Given the description of an element on the screen output the (x, y) to click on. 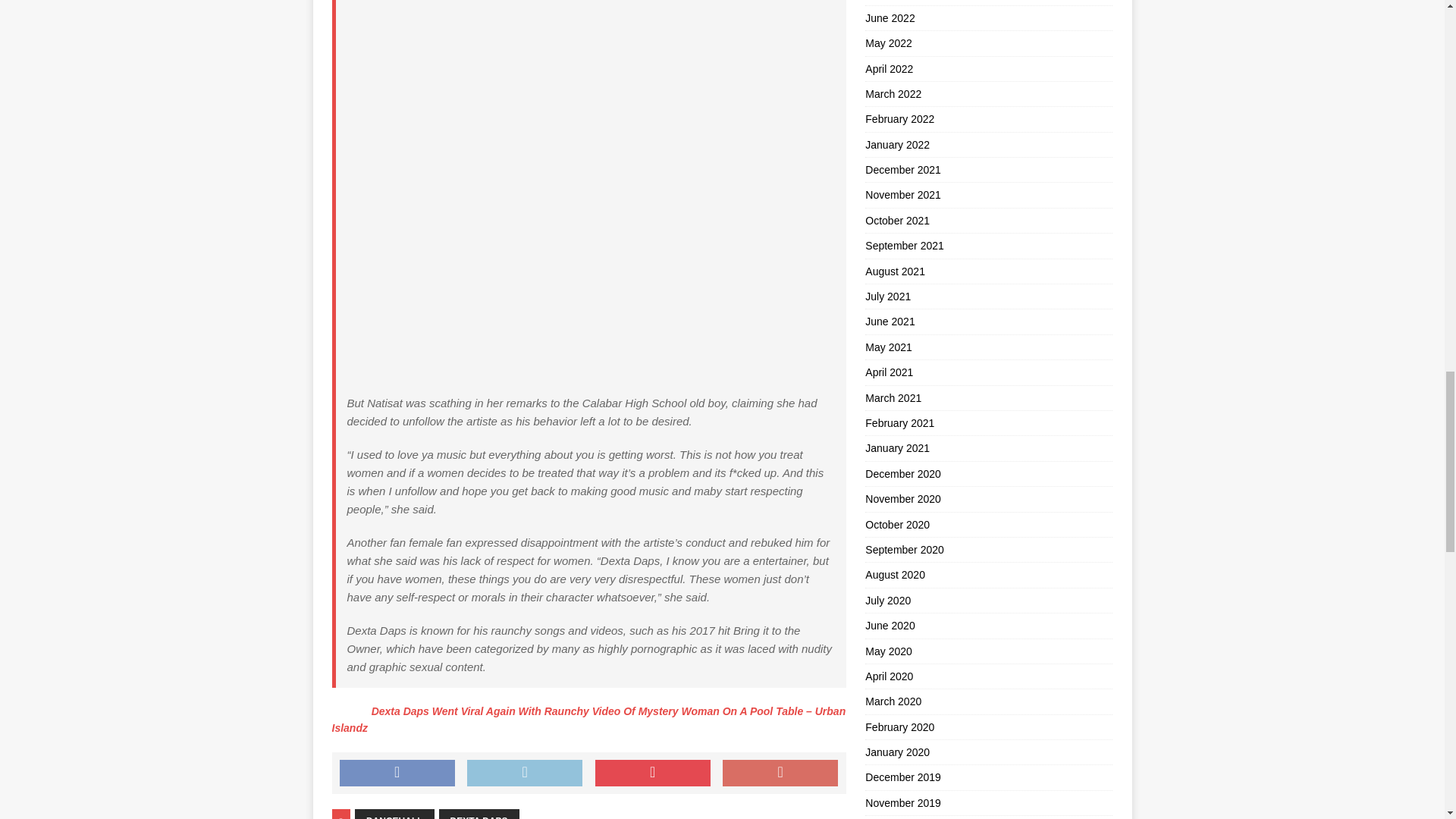
DANCEHALL (394, 814)
DEXTA DAPS (479, 814)
Share on Facebook (396, 773)
Pin This Post (652, 773)
Tweet This Post (524, 773)
